Given the description of an element on the screen output the (x, y) to click on. 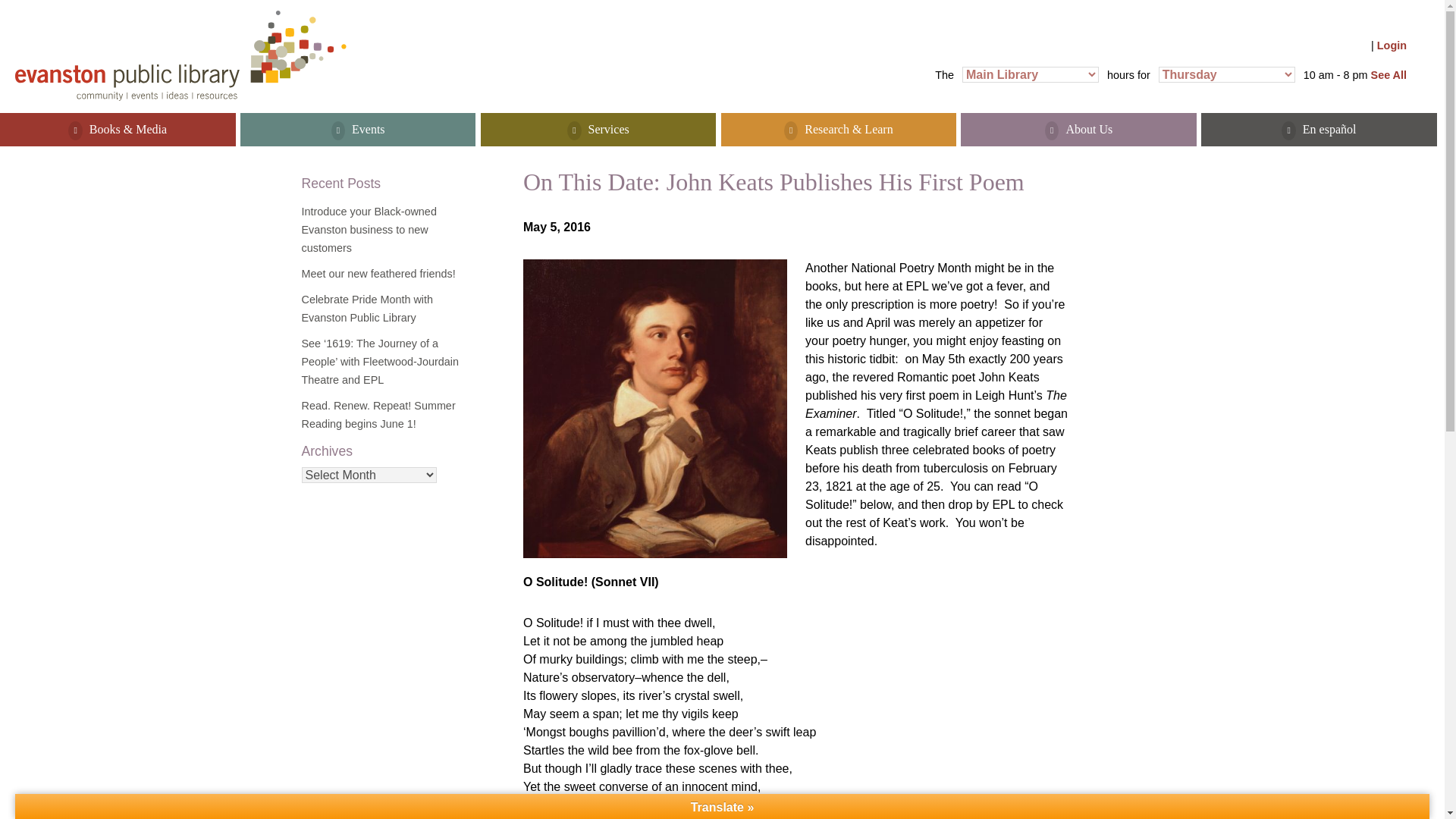
Login (1391, 45)
See All (1388, 74)
Events (358, 129)
